Given the description of an element on the screen output the (x, y) to click on. 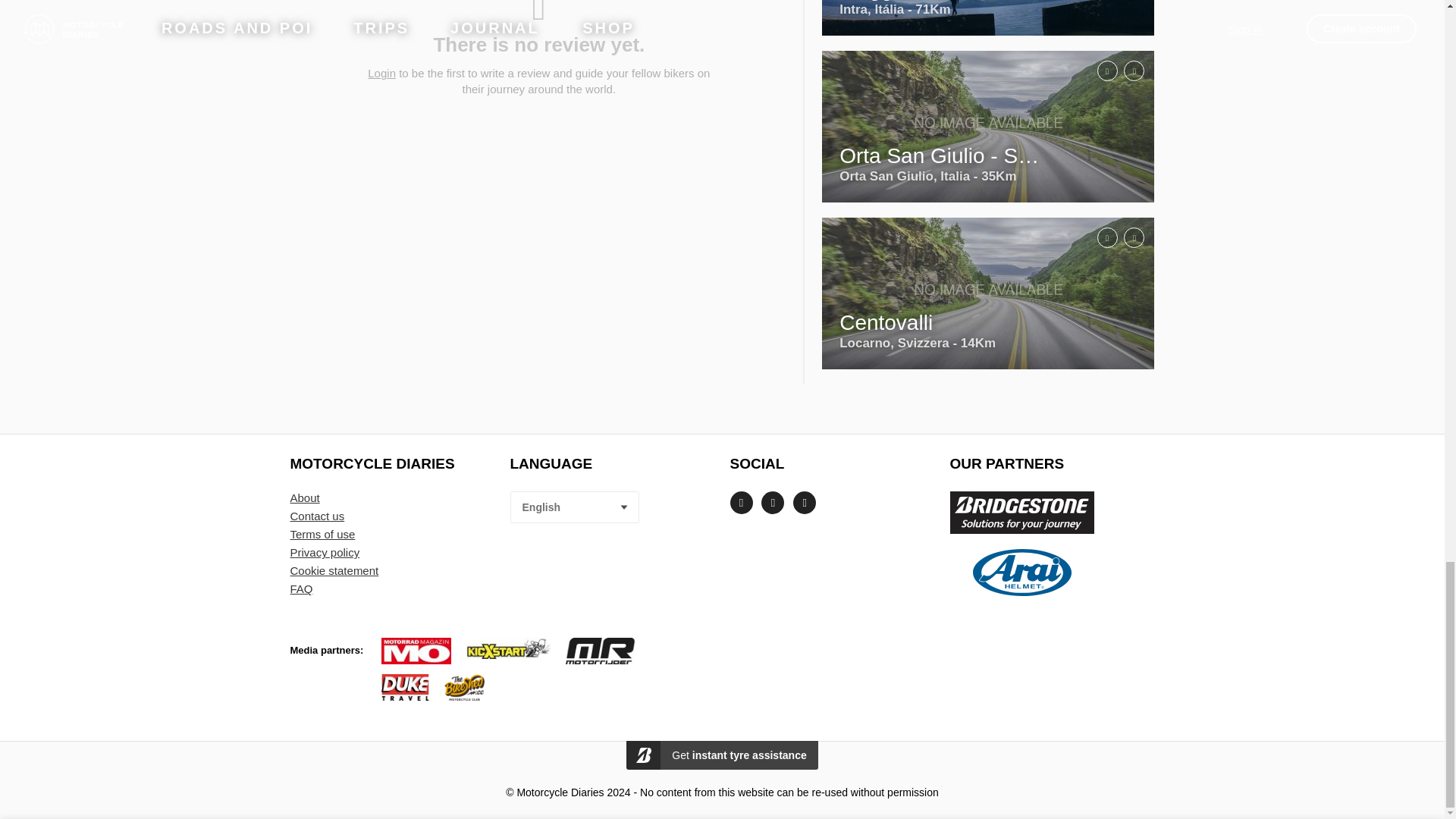
Mountain (1096, 340)
Twisty (1125, 10)
Twisty (1125, 340)
Riverside (1096, 10)
Arai helmet (1021, 572)
Kicxstart (507, 651)
Bridgestone (1021, 512)
Motorrad Magazin (415, 651)
Twisty (1125, 173)
Mountain (1096, 173)
Login (382, 73)
